Given the description of an element on the screen output the (x, y) to click on. 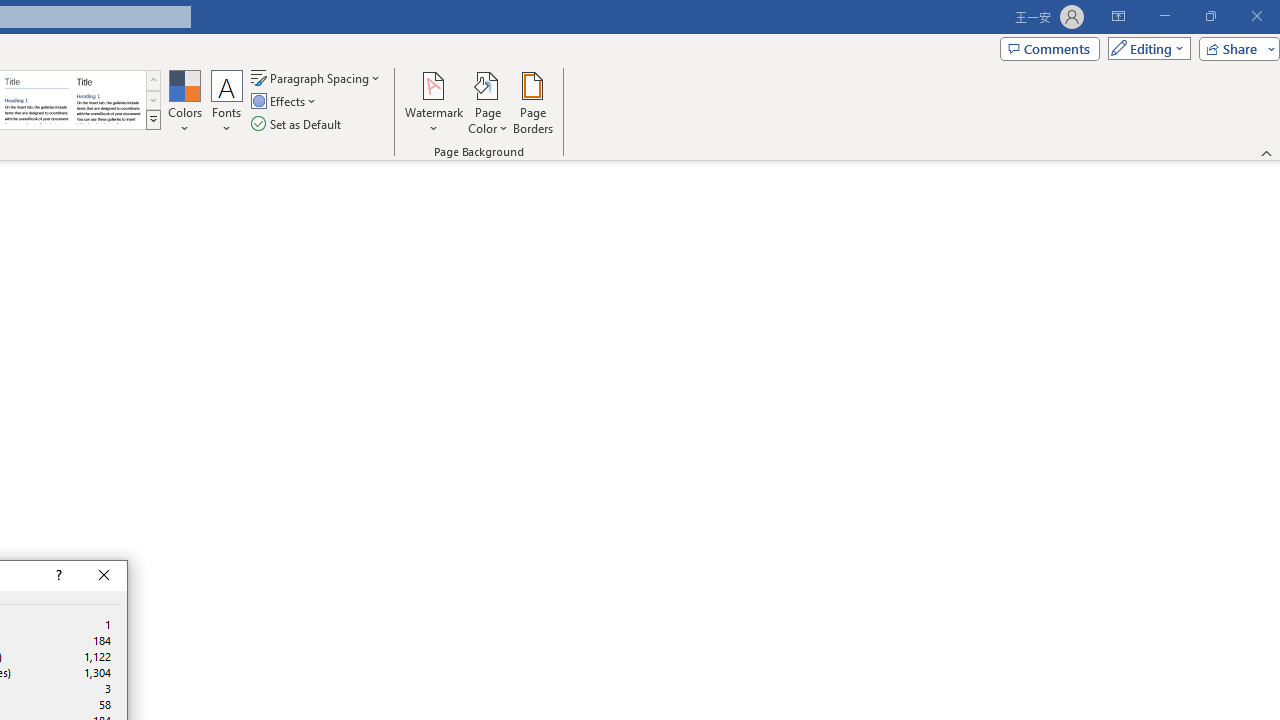
Ribbon Display Options (1118, 16)
Collapse the Ribbon (1267, 152)
Watermark (434, 102)
Paragraph Spacing (317, 78)
Page Color (487, 102)
Restore Down (1210, 16)
Context help (57, 575)
Comments (1049, 48)
Word 2010 (36, 100)
